Given the description of an element on the screen output the (x, y) to click on. 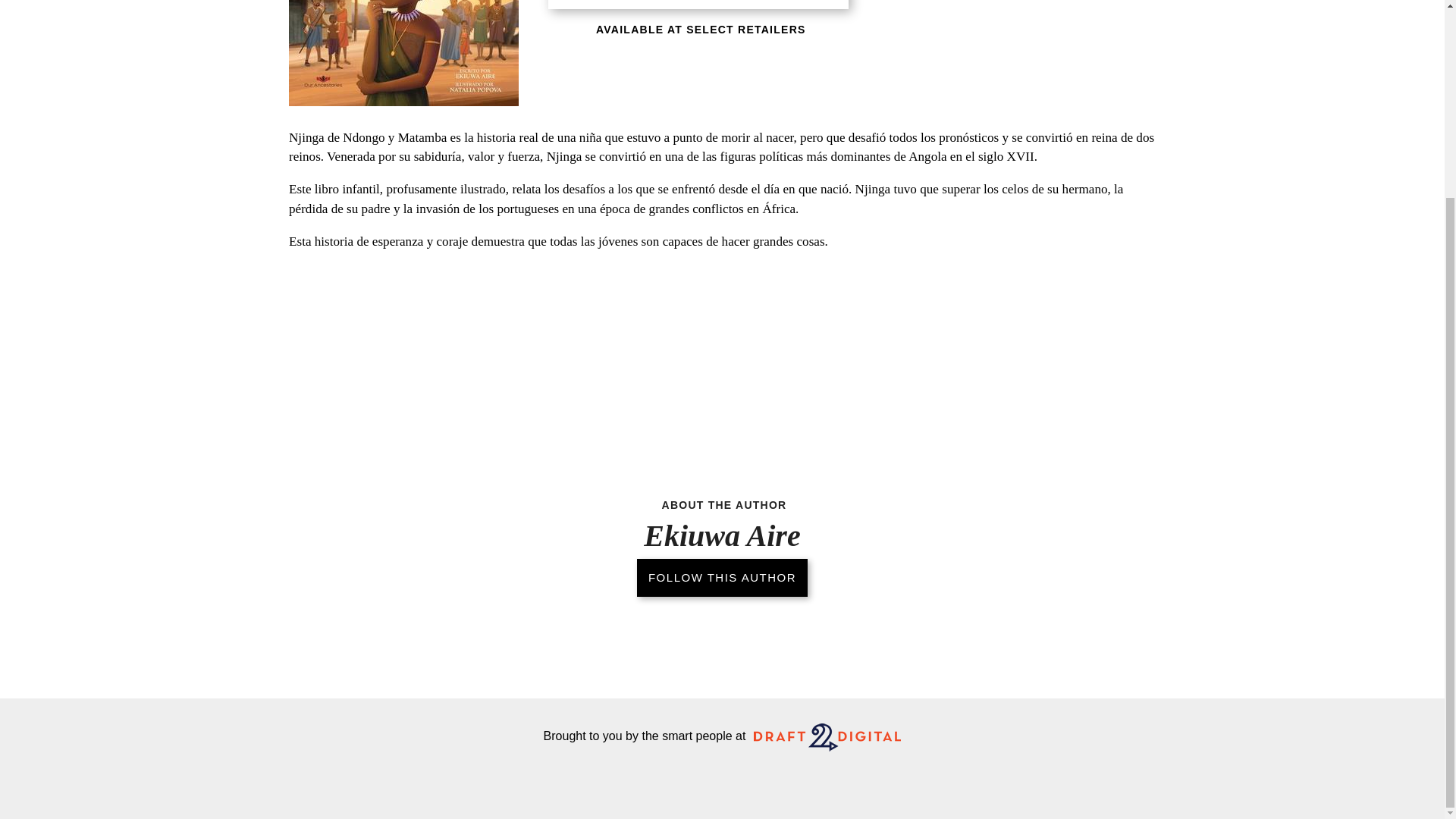
FOLLOW THIS AUTHOR (722, 329)
GET IT NOW (698, 4)
FOLLOW THIS AUTHOR (722, 326)
